Given the description of an element on the screen output the (x, y) to click on. 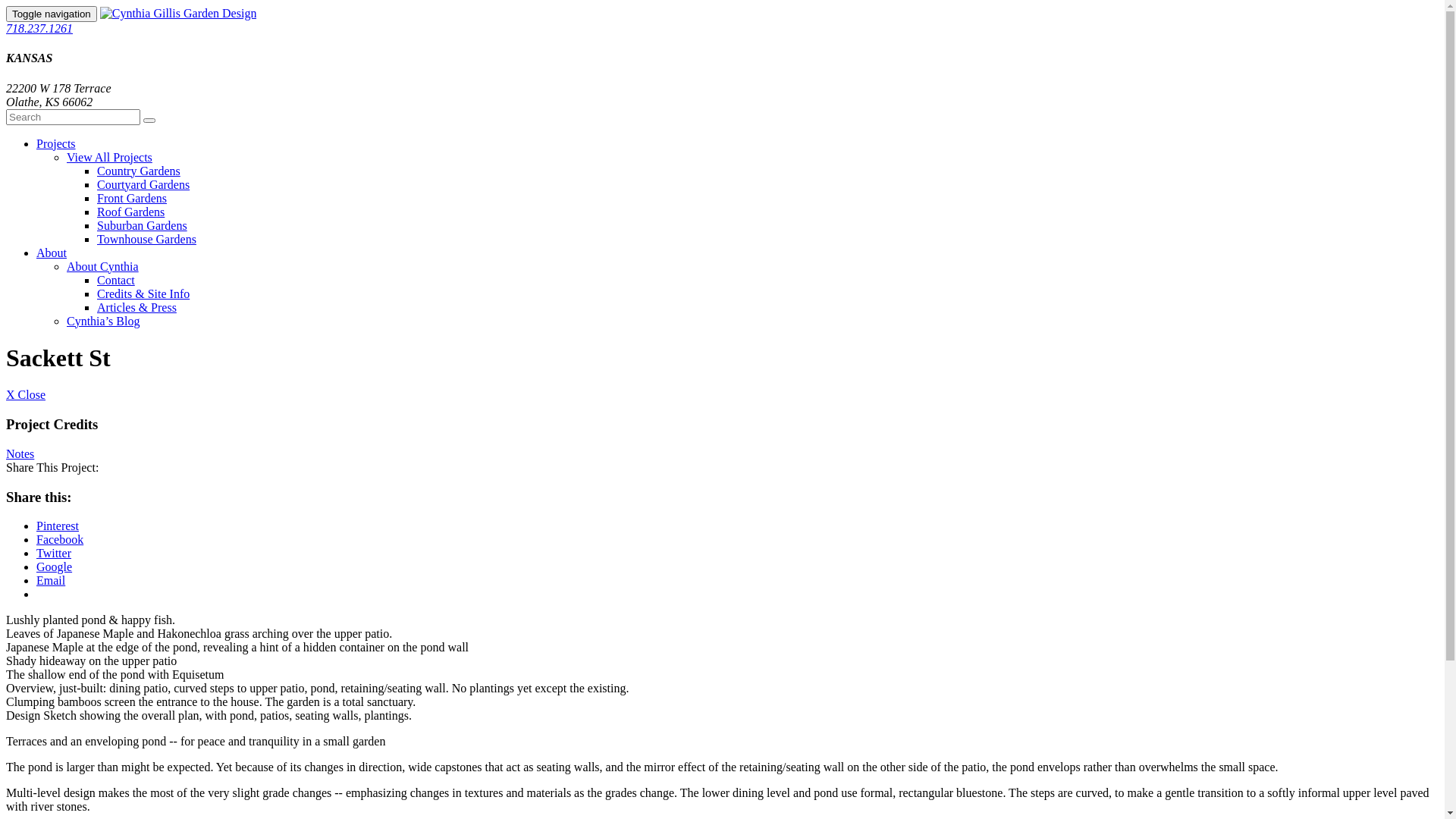
Courtyard Gardens Element type: text (143, 184)
Contact Element type: text (115, 279)
Roof Gardens Element type: text (130, 211)
Articles & Press Element type: text (136, 307)
Email Element type: text (50, 580)
Google Element type: text (54, 566)
Pinterest Element type: text (57, 525)
Credits & Site Info Element type: text (143, 293)
Facebook Element type: text (59, 539)
718.237.1261 Element type: text (39, 27)
Projects Element type: text (55, 143)
Front Gardens Element type: text (131, 197)
Townhouse Gardens Element type: text (146, 238)
Notes Element type: text (20, 453)
View All Projects Element type: text (109, 156)
Country Gardens Element type: text (138, 170)
X Close Element type: text (25, 394)
Twitter Element type: text (53, 552)
About Element type: text (51, 252)
About Cynthia Element type: text (102, 266)
Suburban Gardens Element type: text (142, 225)
Toggle navigation Element type: text (51, 13)
